Given the description of an element on the screen output the (x, y) to click on. 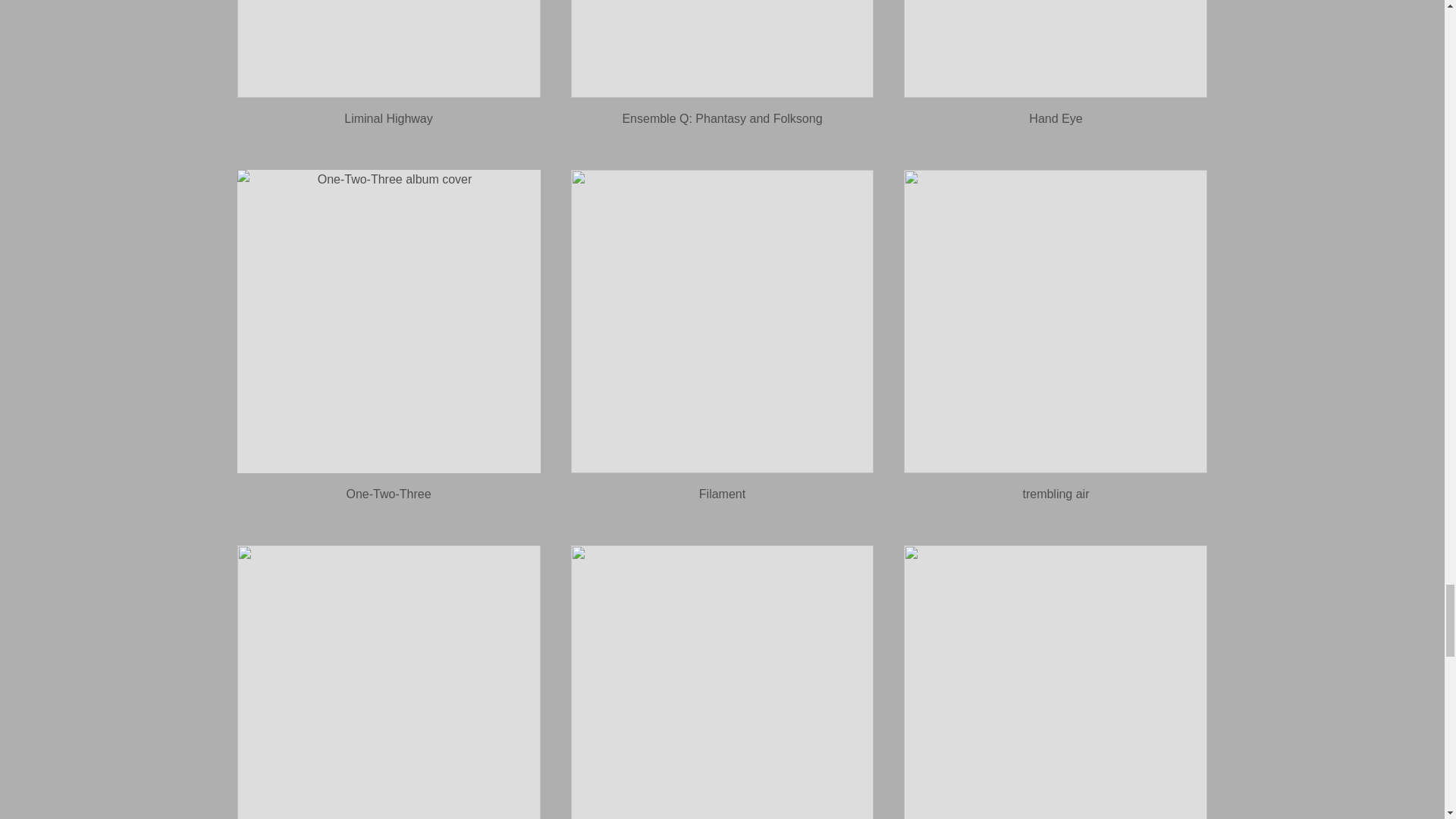
Ensemble Q: Phantasy and Folksong (721, 118)
Hand Eye (1055, 118)
Liminal Highway (387, 118)
One-Two-Three (388, 493)
